Given the description of an element on the screen output the (x, y) to click on. 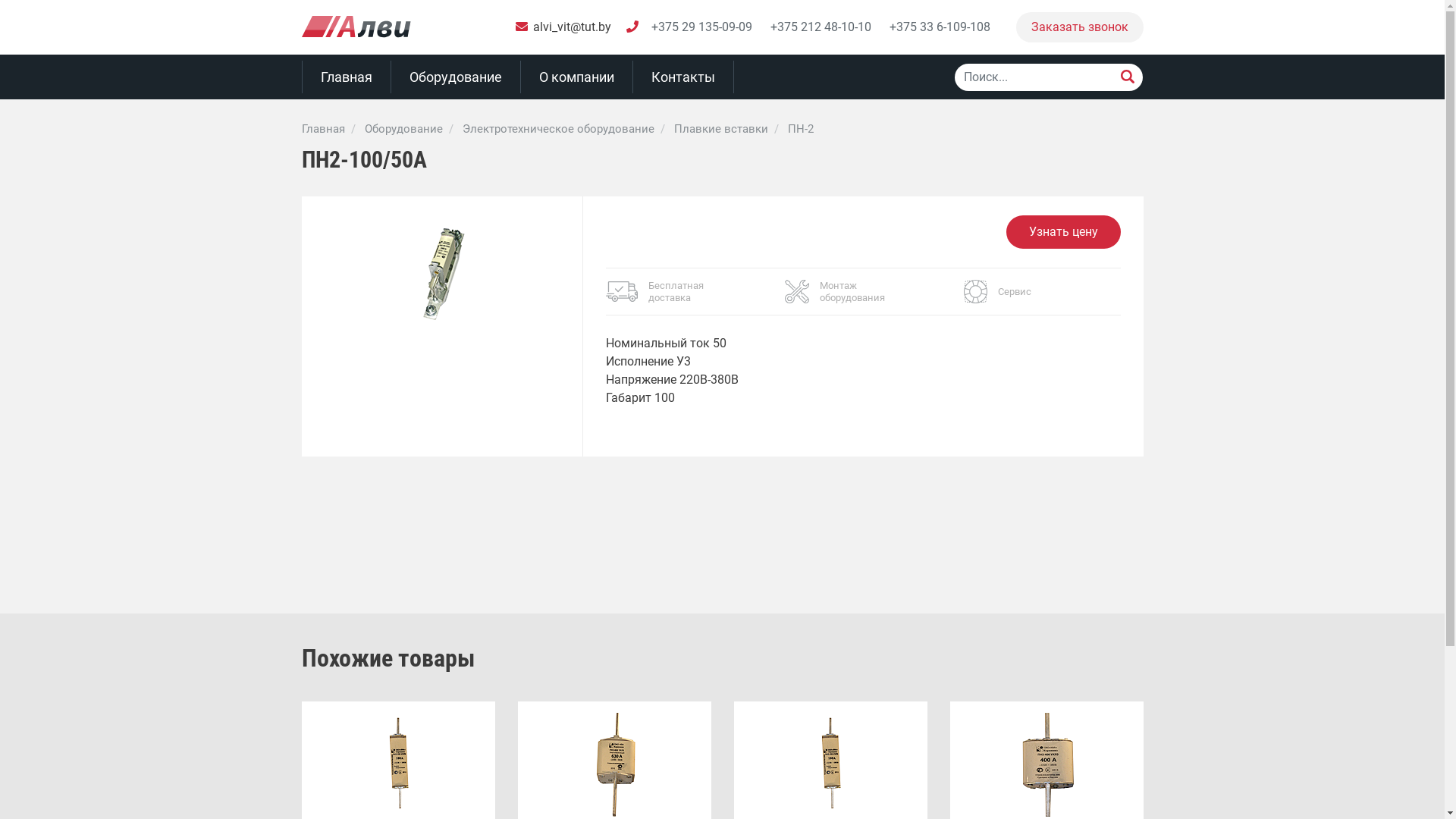
+375 29 135-09-09 Element type: text (700, 27)
> Element type: text (1126, 76)
+375 33 6-109-108 Element type: text (938, 27)
+375 212 48-10-10 Element type: text (820, 27)
